Given the description of an element on the screen output the (x, y) to click on. 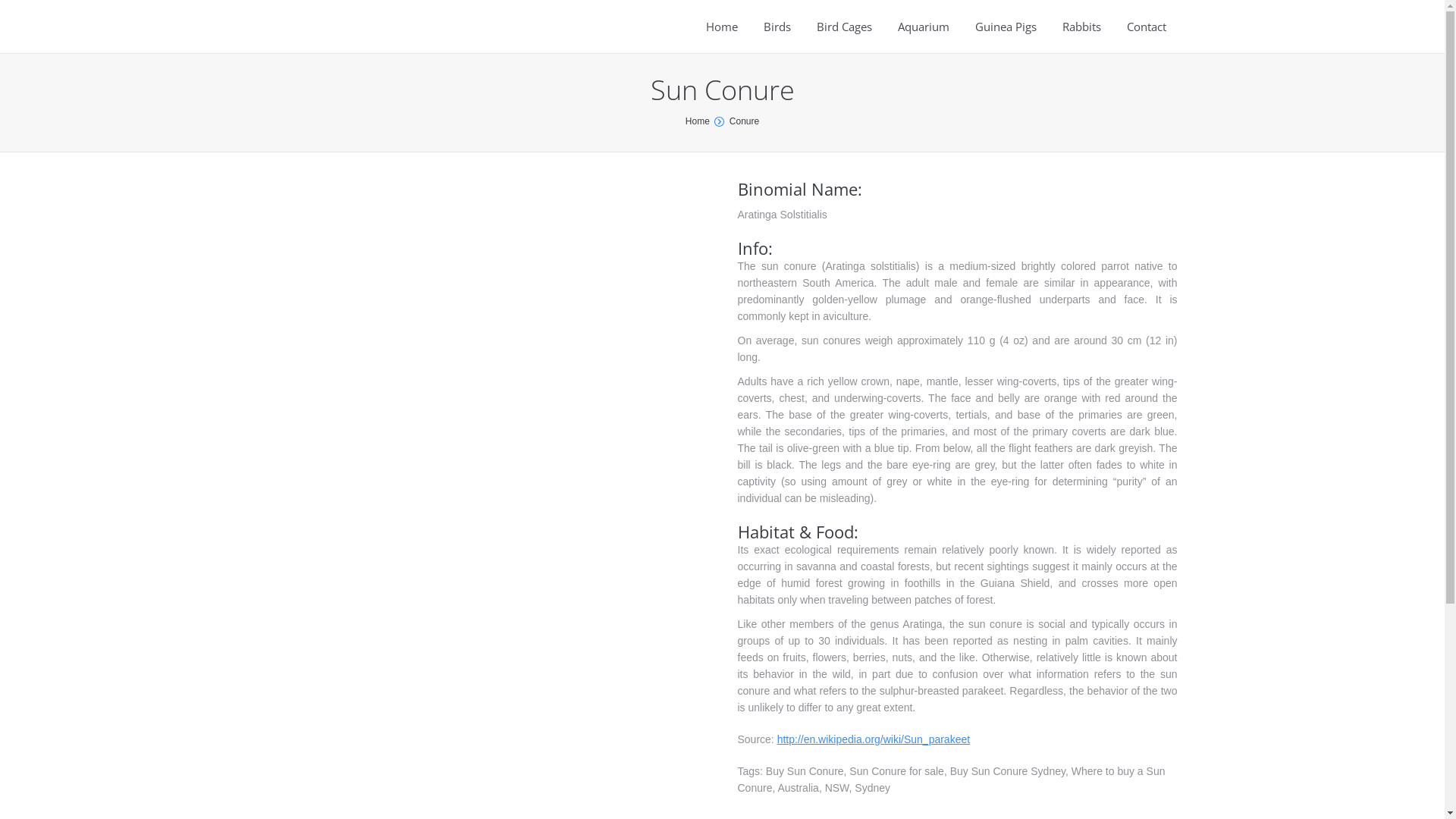
Home Element type: text (697, 121)
Rabbits Element type: text (1081, 26)
Aquarium Element type: text (923, 26)
Birds Element type: text (777, 26)
Bird Cages Element type: text (844, 26)
Guinea Pigs Element type: text (1005, 26)
Conure Element type: text (744, 121)
http://en.wikipedia.org/wiki/Sun_parakeet Element type: text (873, 739)
Home Element type: text (721, 26)
Contact Element type: text (1146, 26)
